Given the description of an element on the screen output the (x, y) to click on. 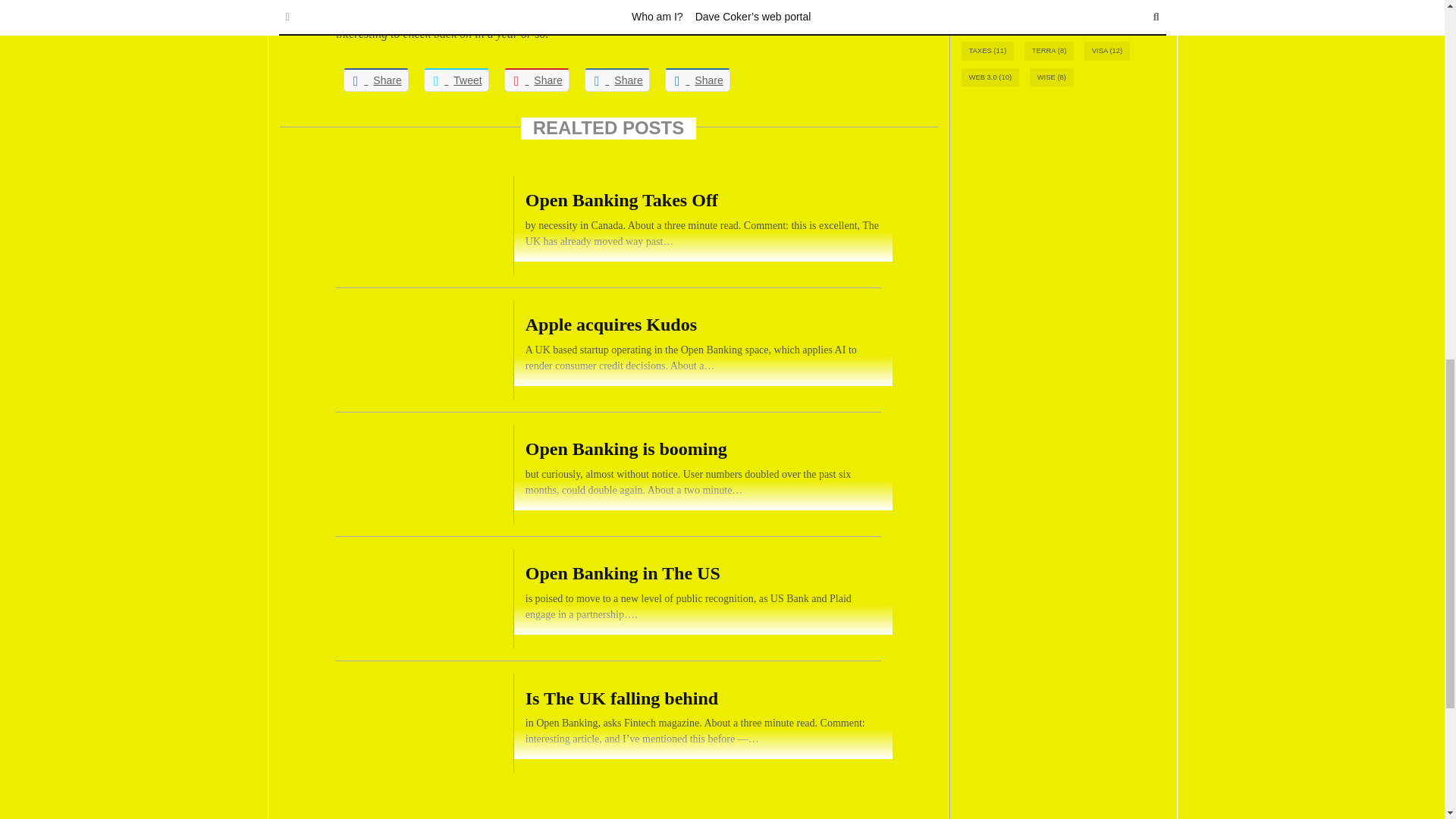
Share (617, 79)
Share (536, 79)
Share (376, 79)
Tweet (456, 79)
Share on Twitter (456, 79)
Share (697, 79)
Share on Digg (697, 79)
Apple acquires Kudos (608, 349)
Open Banking Takes Off (608, 225)
Open Banking is booming (608, 474)
Share on Pinterest (536, 79)
Is The UK falling behind (608, 722)
Open Banking in The US (608, 598)
Share on Facebook (376, 79)
Share on LinkedIn (617, 79)
